Given the description of an element on the screen output the (x, y) to click on. 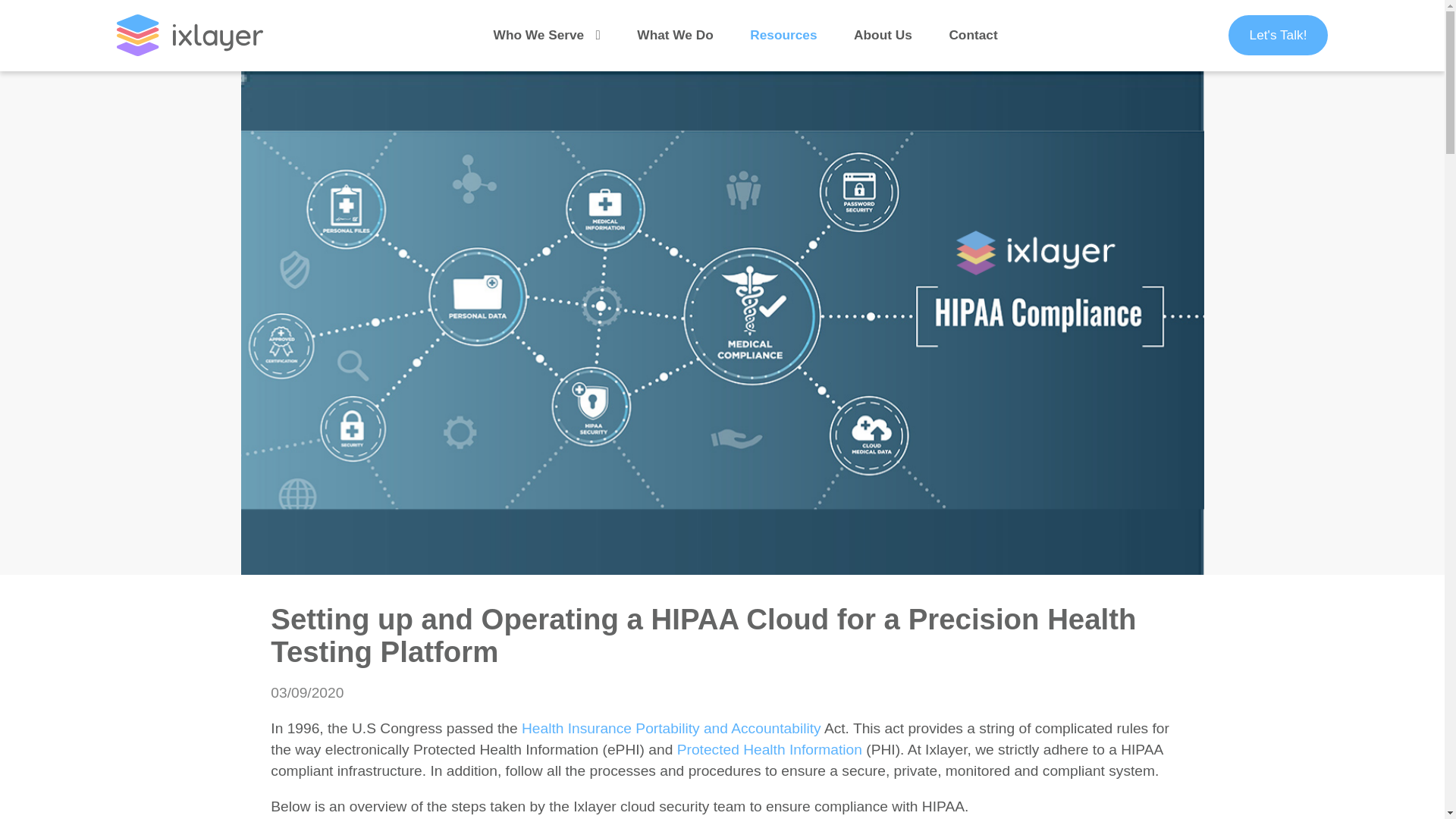
Health Insurance Portability and Accountability (669, 728)
Contact (973, 35)
Protected Health Information (769, 749)
About Us (882, 35)
What We Do (675, 35)
Who We Serve (539, 35)
Let's Talk! (1277, 35)
Resources (782, 35)
